Given the description of an element on the screen output the (x, y) to click on. 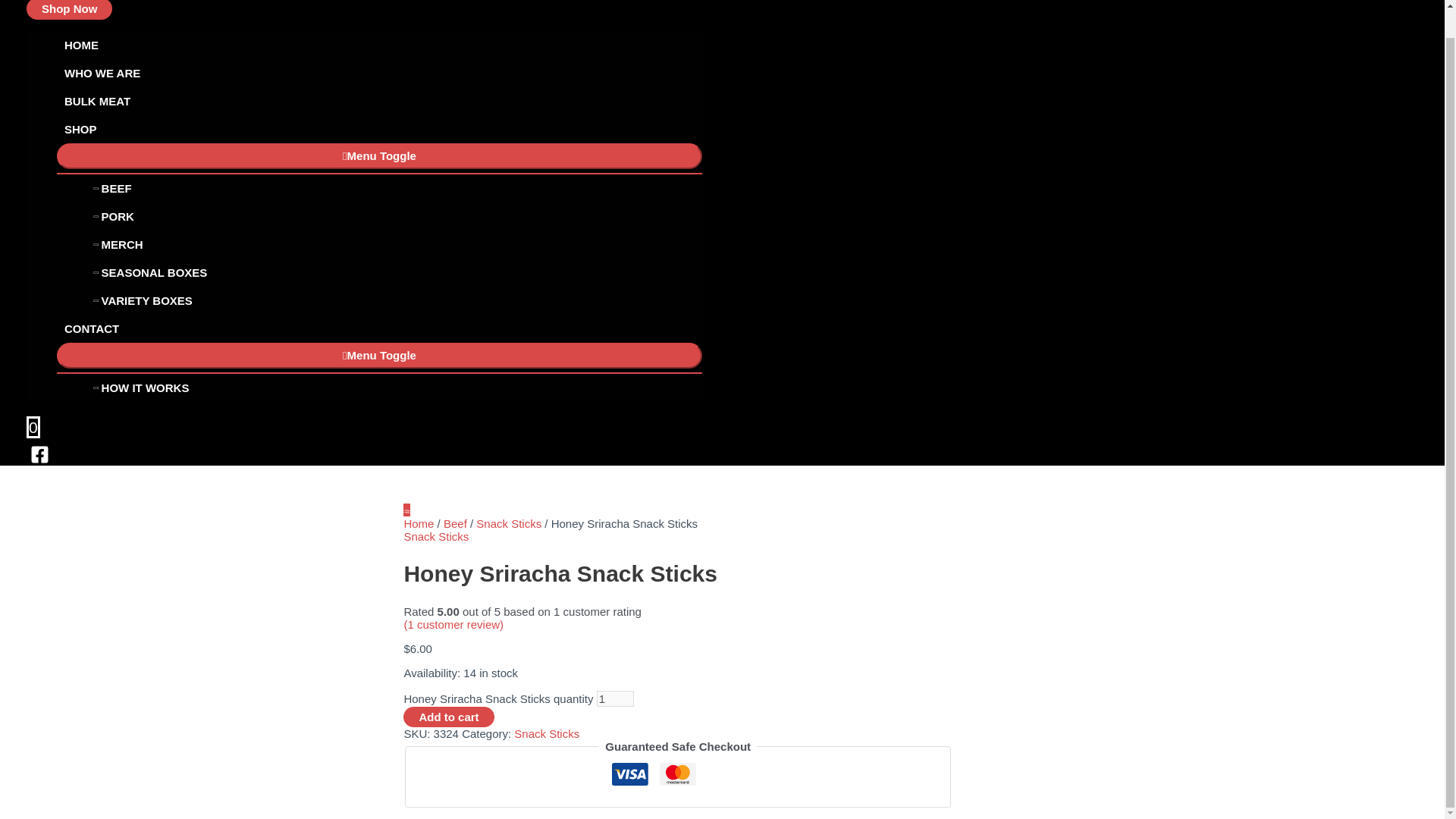
Snack Sticks (435, 535)
VARIETY BOXES (394, 300)
1 (614, 698)
BEEF (394, 188)
Snack Sticks (546, 733)
MERCH (394, 244)
Shop Now (69, 9)
Menu Toggle (378, 355)
SEASONAL BOXES (394, 272)
Snack Sticks (508, 522)
Menu Toggle (378, 155)
0 (33, 429)
HOW IT WORKS (394, 387)
PORK (394, 216)
CONTACT (378, 328)
